Given the description of an element on the screen output the (x, y) to click on. 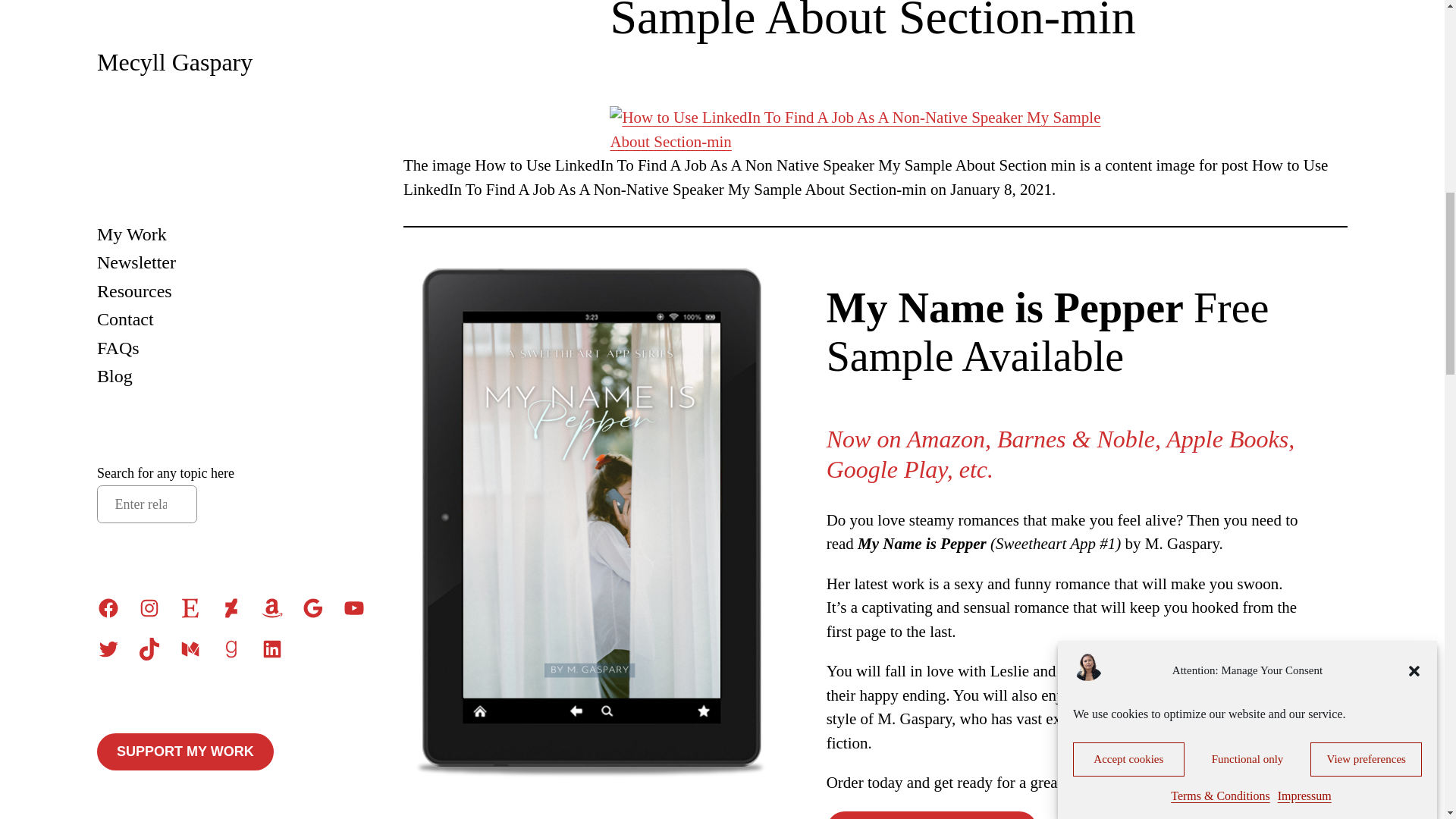
View preferences (1366, 90)
Functional only (1247, 114)
Accept cookies (1129, 139)
Impressum (1305, 33)
